Given the description of an element on the screen output the (x, y) to click on. 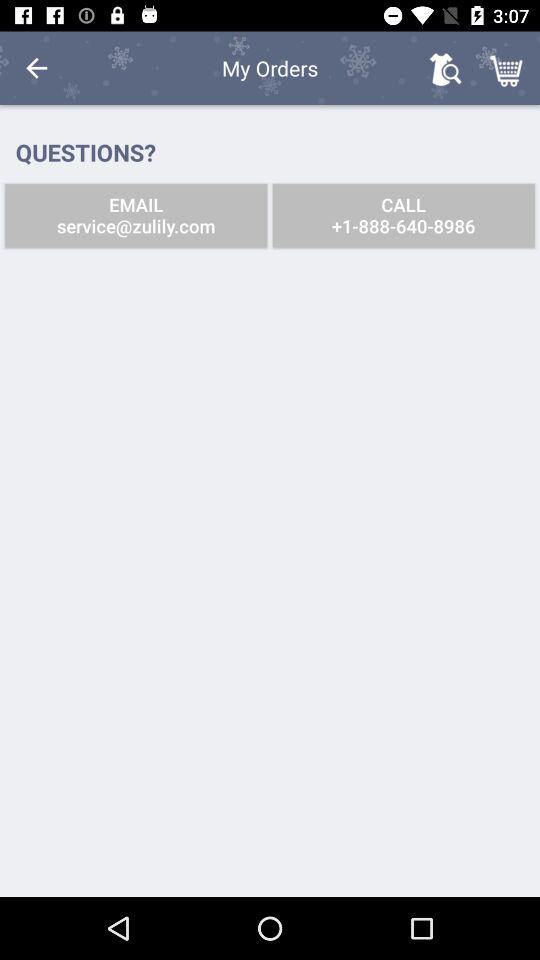
select the call 1 888 (403, 215)
